Given the description of an element on the screen output the (x, y) to click on. 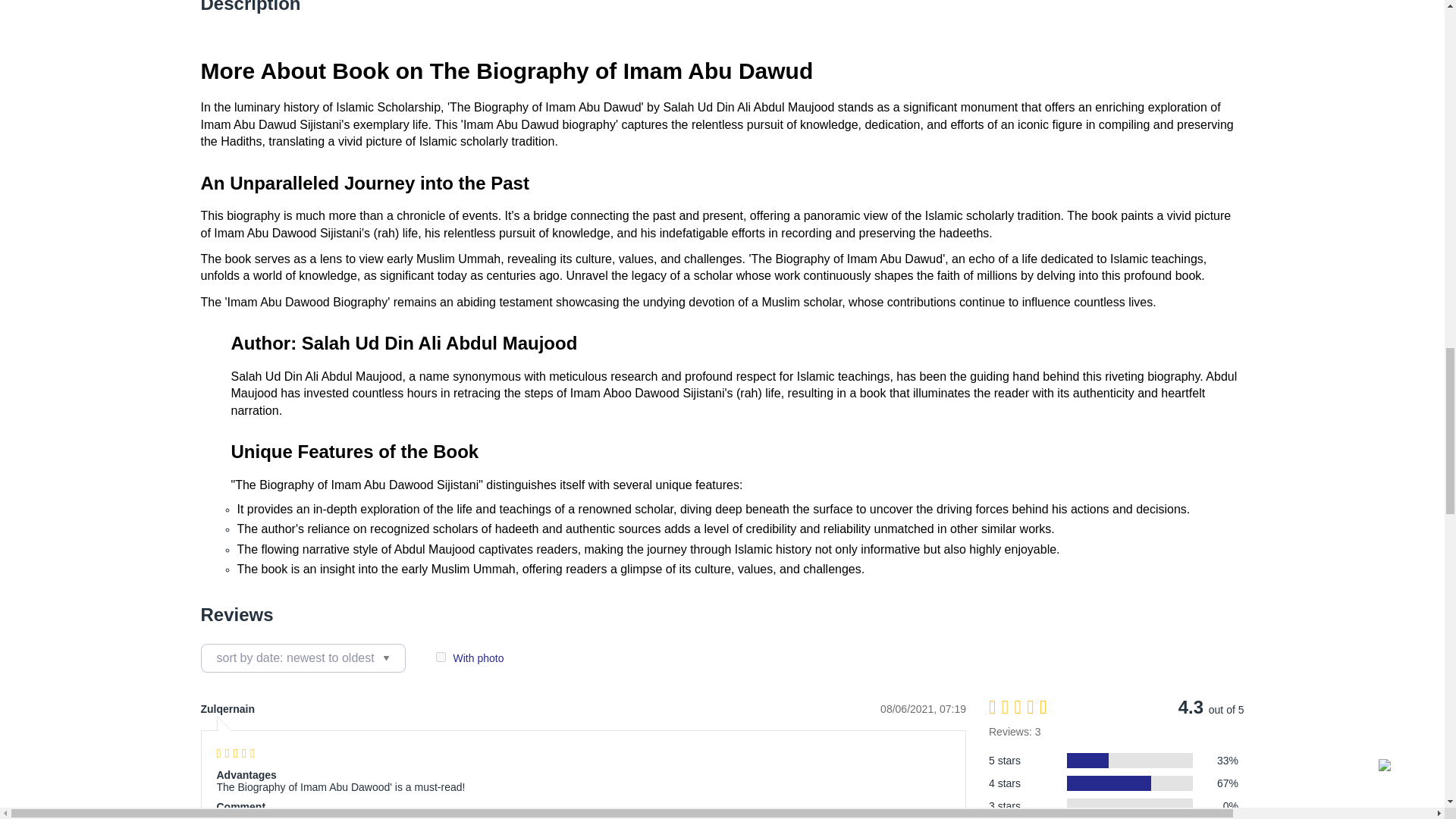
on (440, 656)
